Given the description of an element on the screen output the (x, y) to click on. 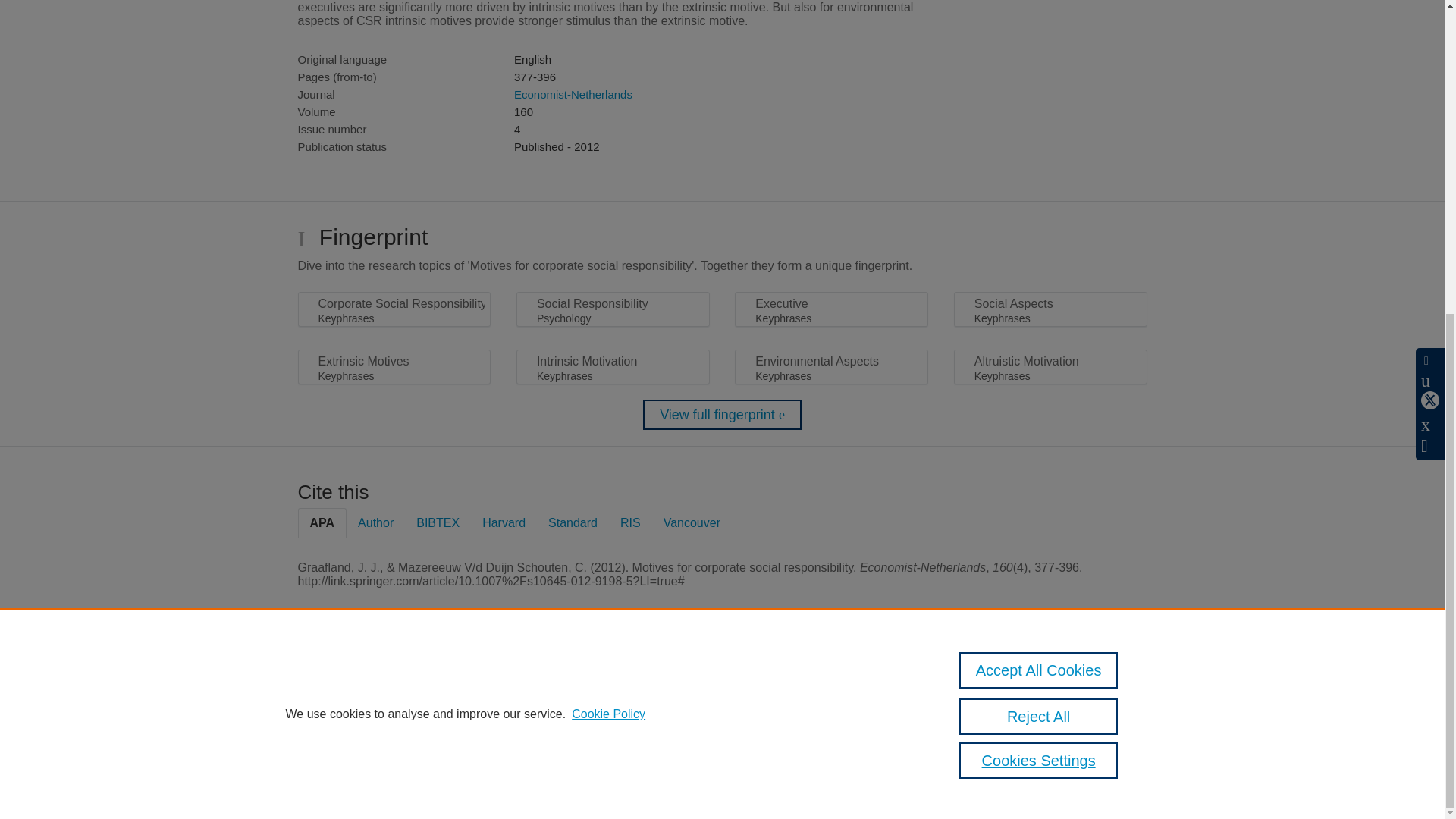
Scopus (394, 686)
Pure (362, 686)
View full fingerprint (722, 414)
Economist-Netherlands (572, 93)
